Given the description of an element on the screen output the (x, y) to click on. 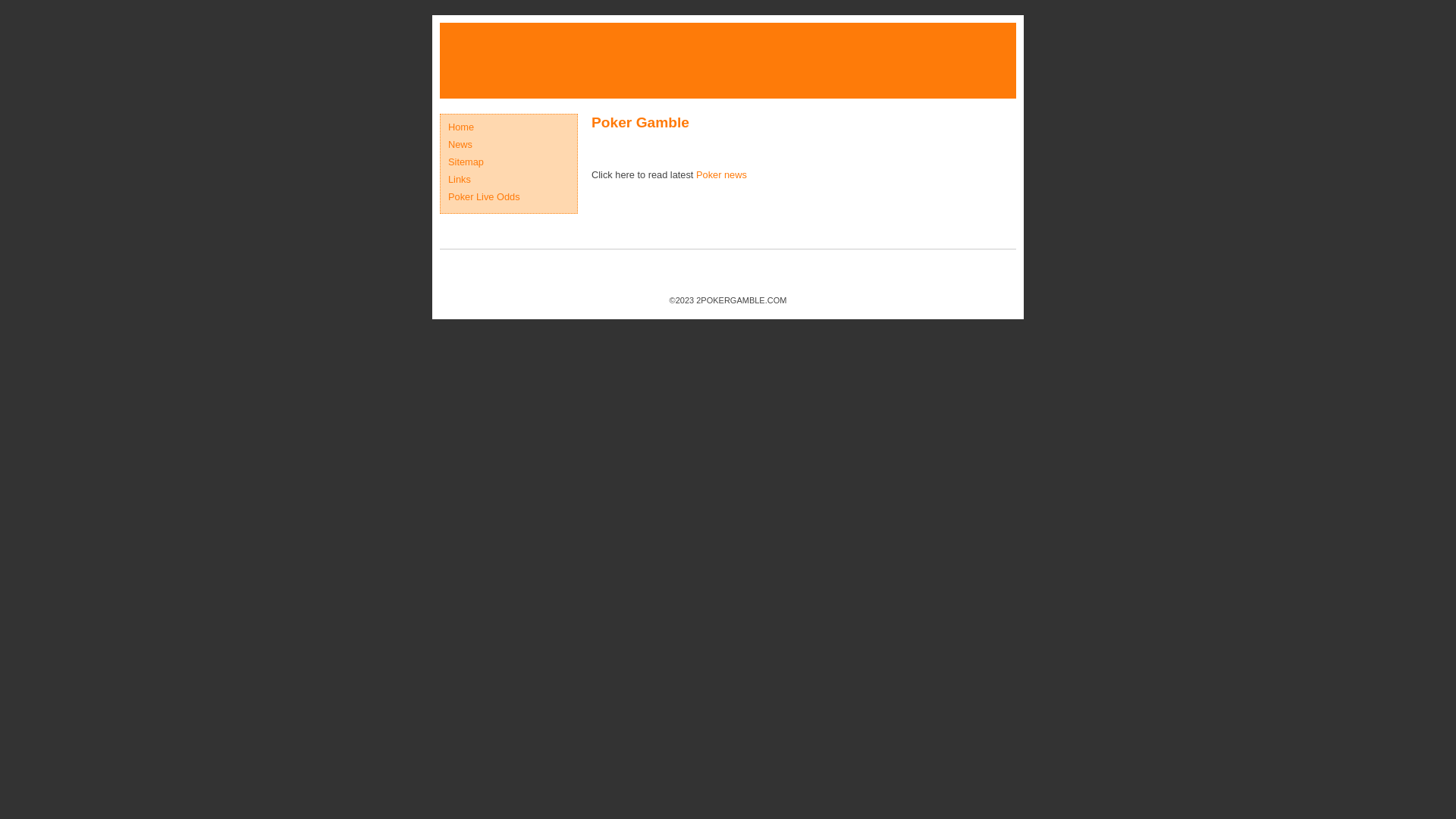
Poker news Element type: text (721, 174)
Poker Gamble Element type: text (640, 122)
Sitemap Element type: text (465, 161)
Home Element type: text (460, 126)
News Element type: text (460, 144)
Links Element type: text (459, 179)
Poker Live Odds Element type: text (484, 196)
